Given the description of an element on the screen output the (x, y) to click on. 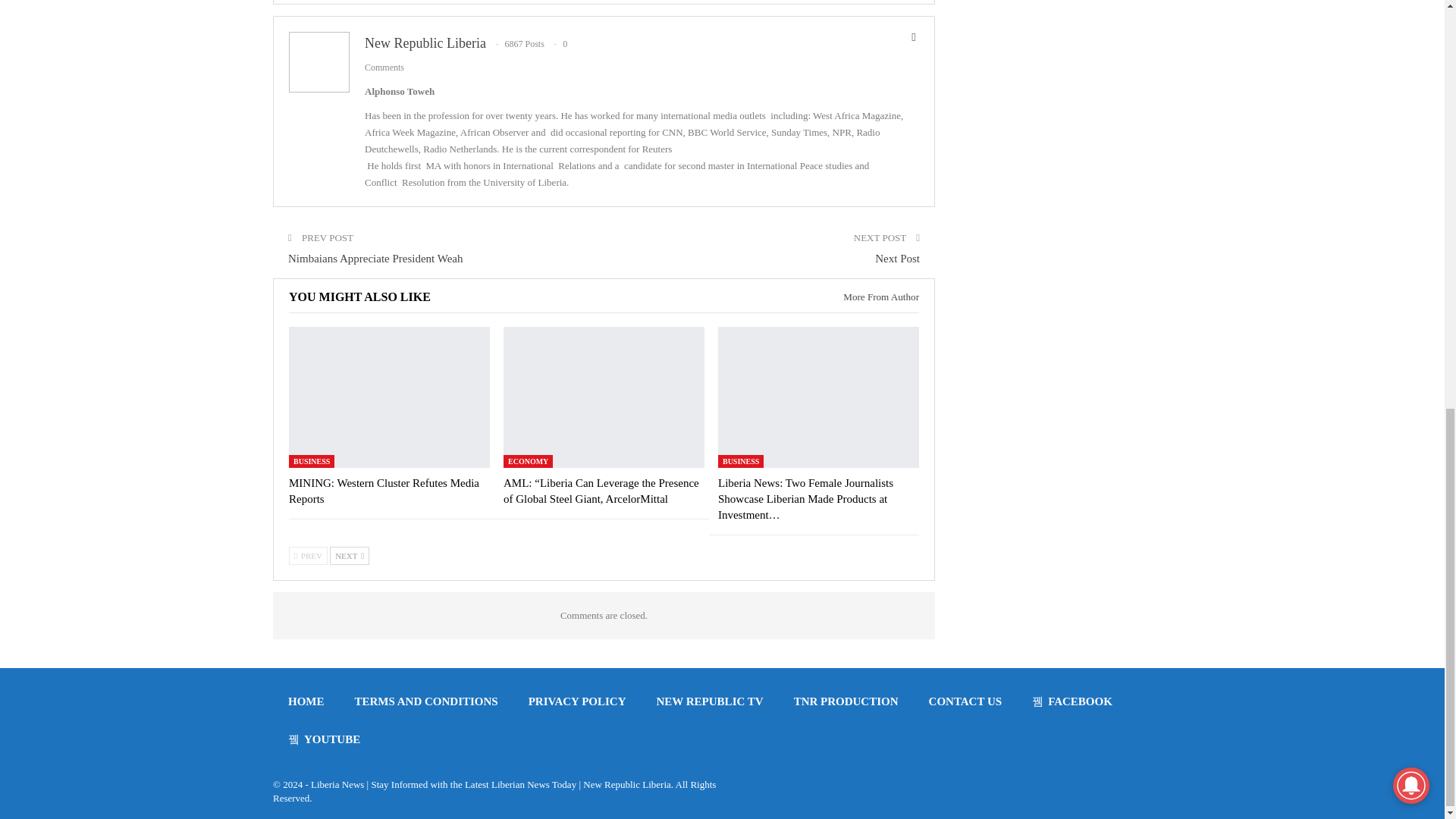
Previous (307, 556)
MINING: Western Cluster Refutes Media Reports (383, 490)
Next (349, 556)
MINING: Western Cluster Refutes Media Reports (388, 396)
